Given the description of an element on the screen output the (x, y) to click on. 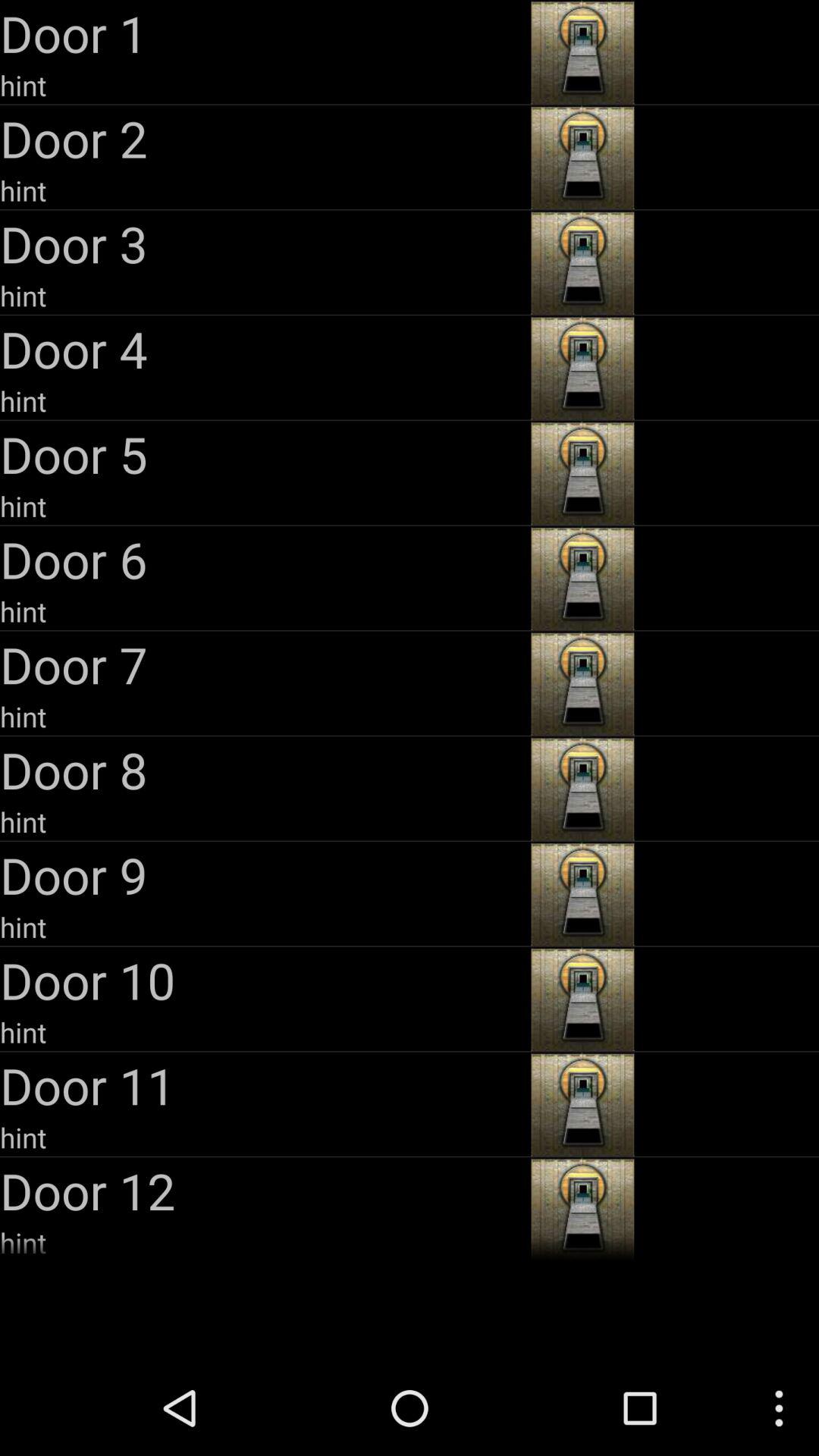
press door 12 icon (263, 1190)
